Given the description of an element on the screen output the (x, y) to click on. 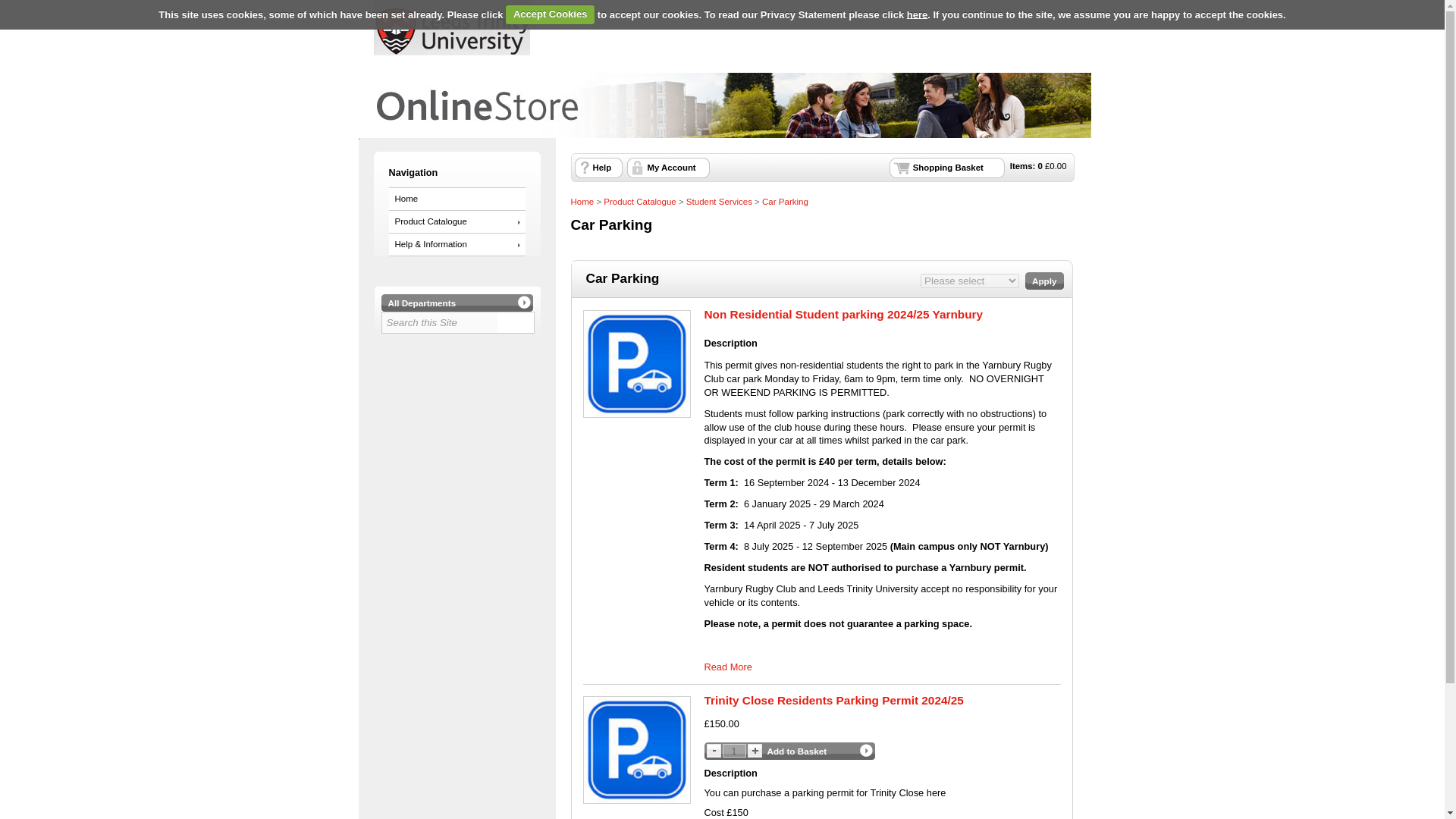
Logo (450, 28)
here (917, 13)
Search this Site (439, 322)
Home (456, 198)
Our Privacy Statement about cookies (917, 13)
All Departments (456, 303)
Search this Site (439, 322)
1 (733, 750)
Product Catalogue (456, 221)
Accept Cookies (549, 14)
